Given the description of an element on the screen output the (x, y) to click on. 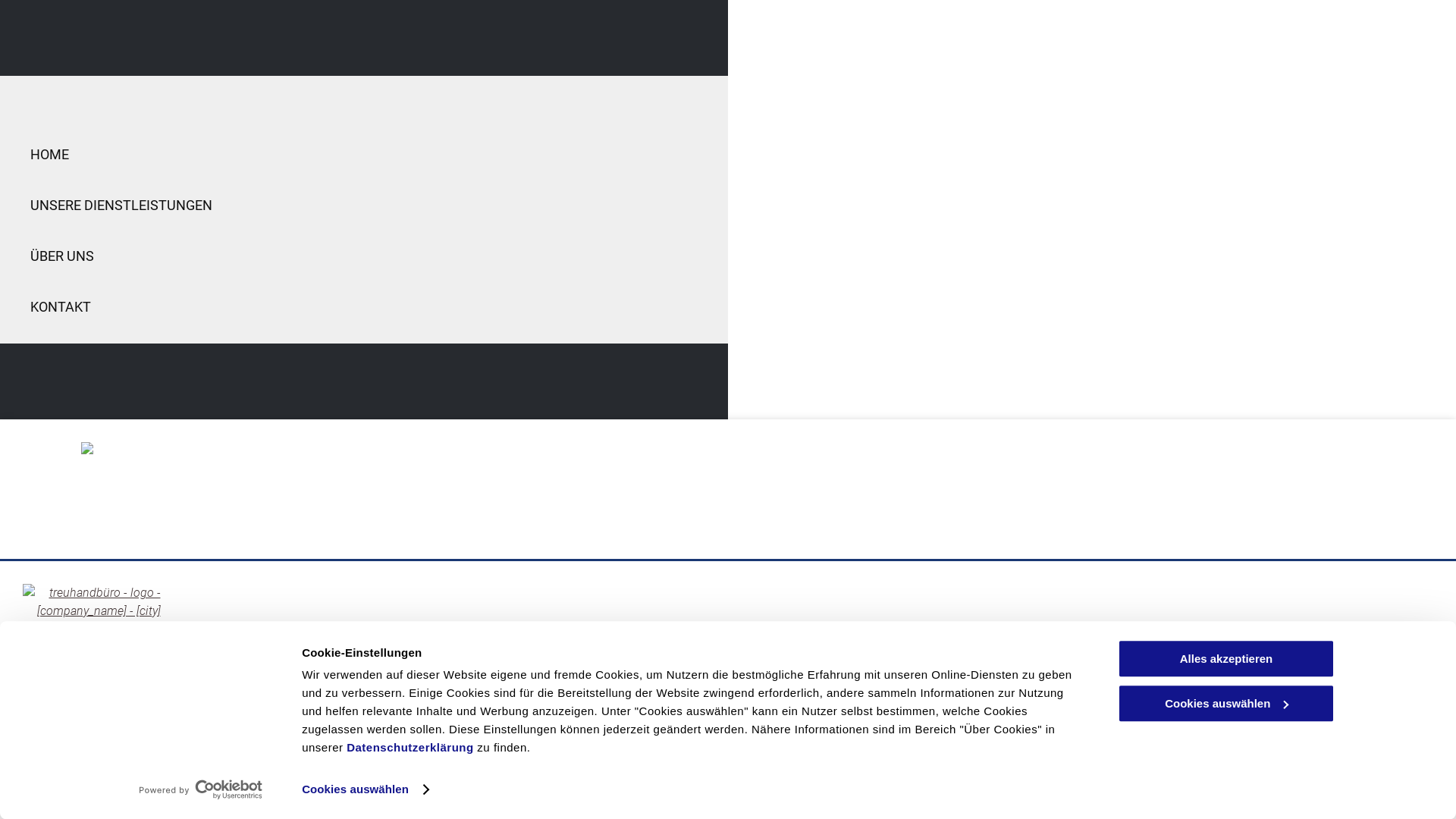
UNSERE DIENSTLEISTUNGEN Element type: text (367, 204)
HOME Element type: text (367, 153)
UNSERE DIENSTLEISTUNGEN Element type: text (438, 666)
HOME Element type: text (317, 666)
KONTAKT Element type: text (367, 306)
KONTAKT Element type: text (650, 666)
Alles akzeptieren Element type: text (1225, 658)
